Given the description of an element on the screen output the (x, y) to click on. 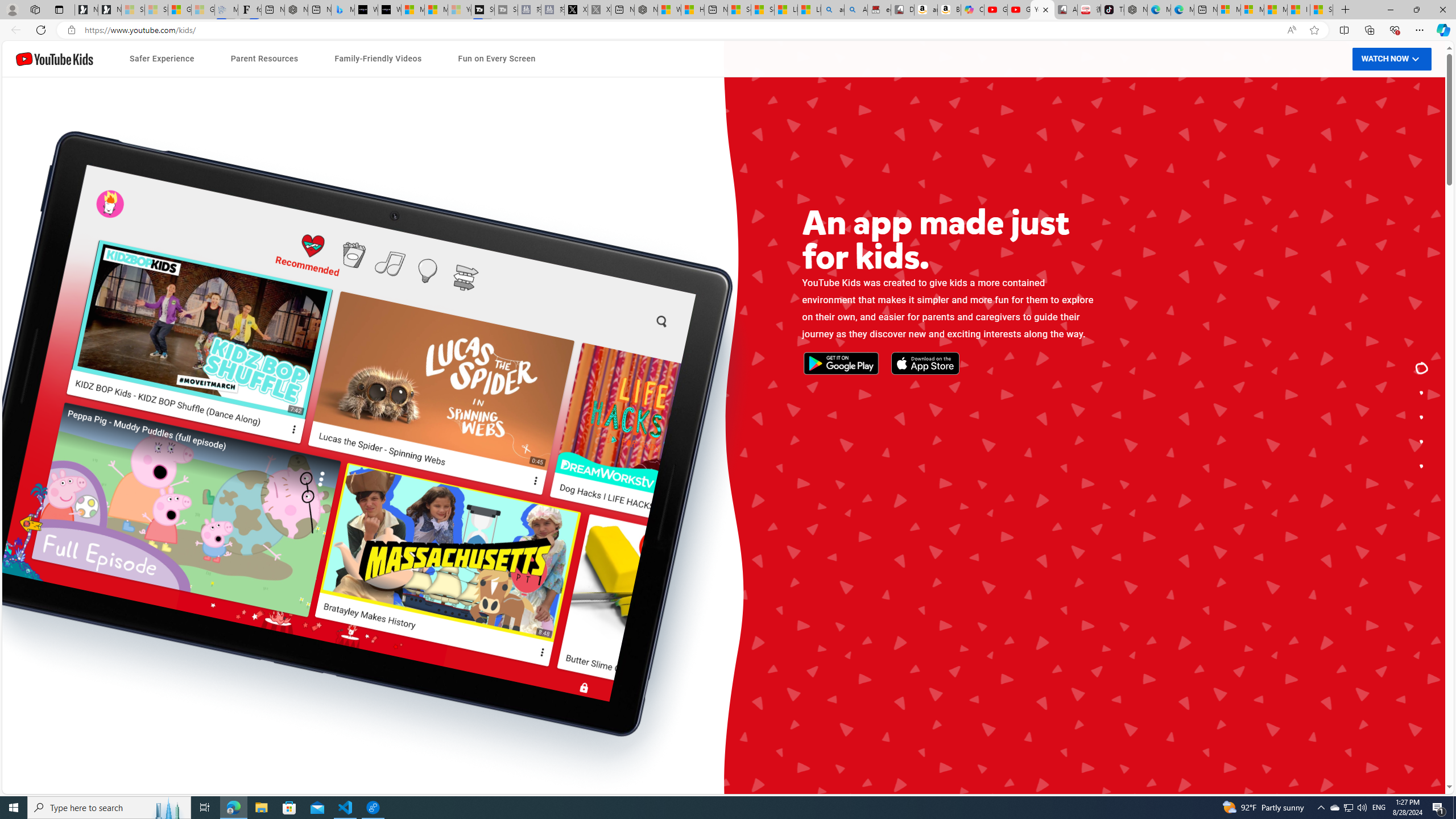
Huge shark washes ashore at New York City beach | Watch (692, 9)
01 Arts & Crafts (950, 487)
03 Timer (496, 526)
01Parent Approved + Collections (496, 479)
All kinds of videos for all kinds of kids. (1421, 441)
03 Learning & Hobbies (950, 535)
Class: ytk-dot-nav__dot (1421, 466)
02 Toys & Play (950, 511)
Class: ytk__arrow-link-icon (914, 519)
Nordace - #1 Japanese Best-Seller - Siena Smart Backpack (296, 9)
